Given the description of an element on the screen output the (x, y) to click on. 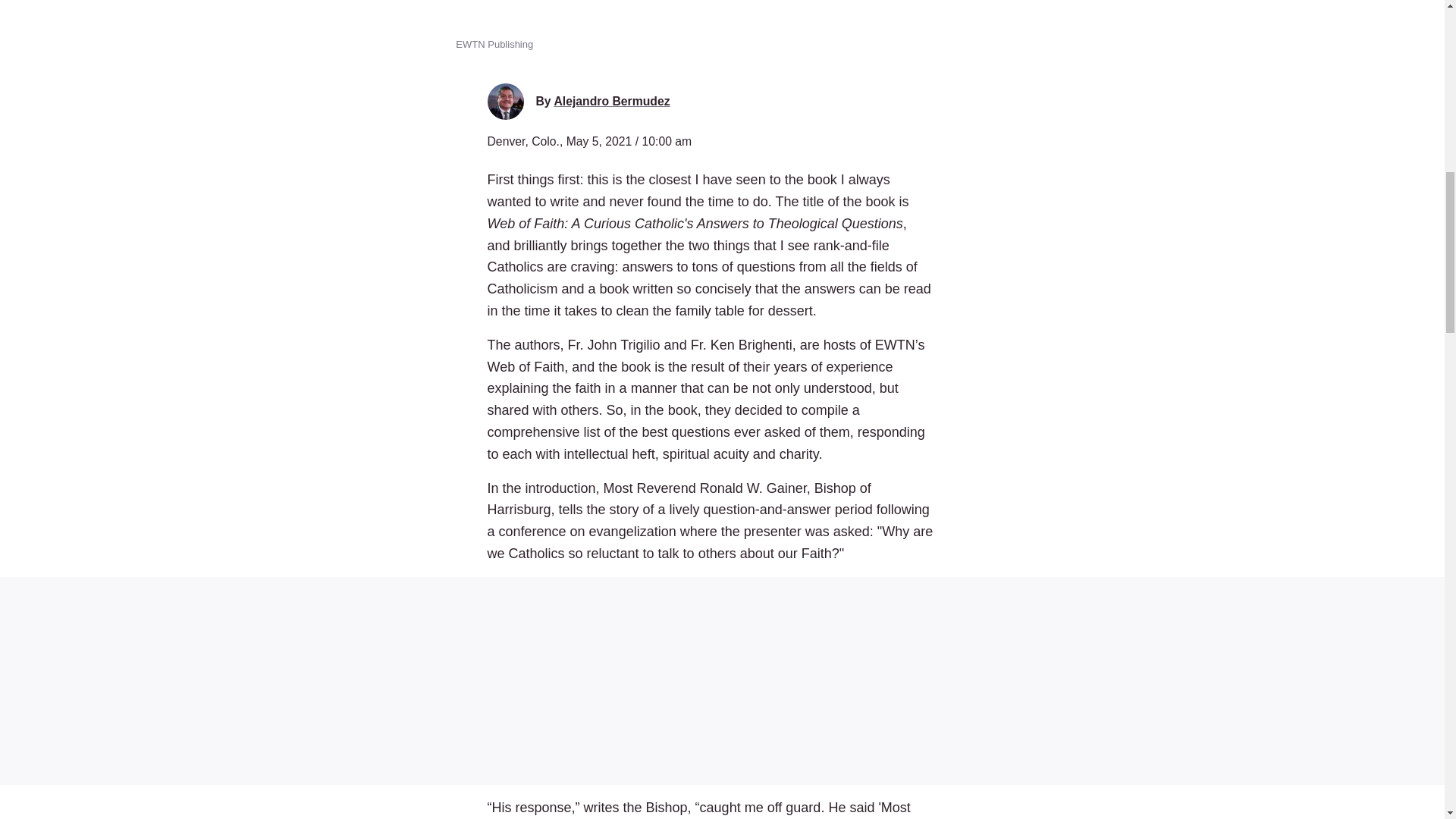
3rd party ad content (721, 680)
